Given the description of an element on the screen output the (x, y) to click on. 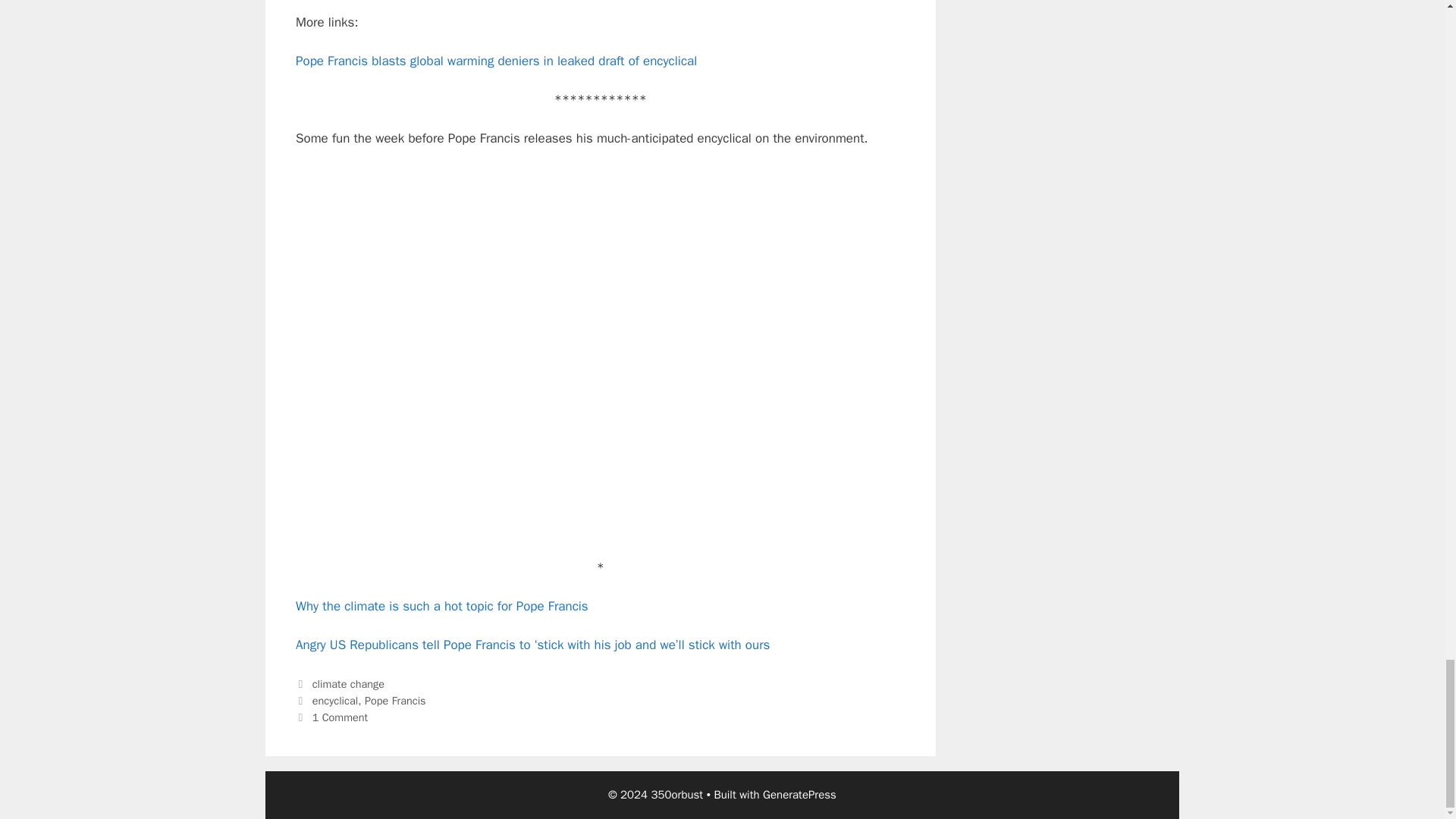
Pope Francis (395, 700)
Why the climate is such a hot topic for Pope Francis (441, 606)
encyclical (335, 700)
1 Comment (340, 716)
climate change (348, 684)
